Given the description of an element on the screen output the (x, y) to click on. 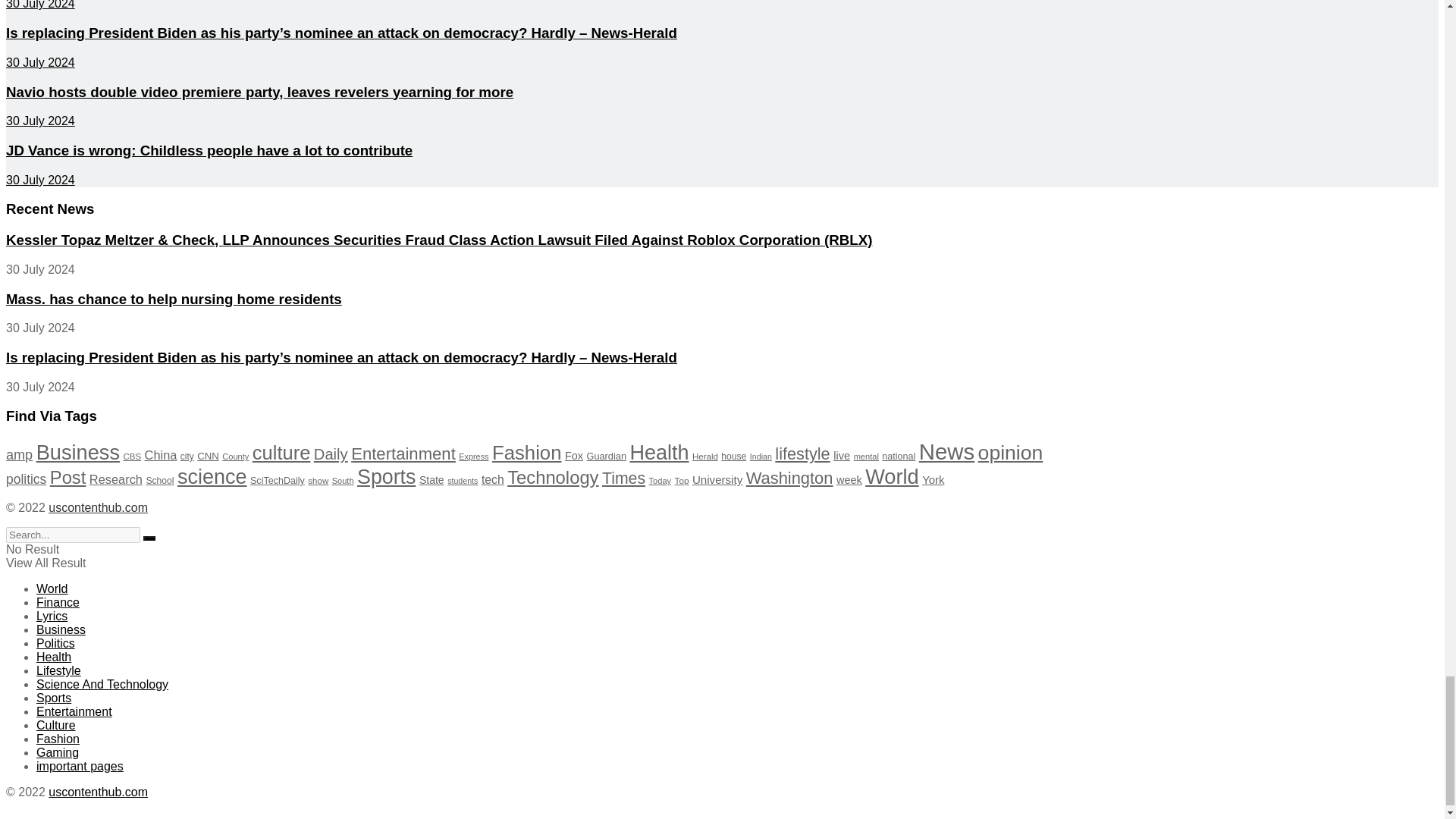
Premium news  (98, 507)
Premium news  (98, 791)
